Given the description of an element on the screen output the (x, y) to click on. 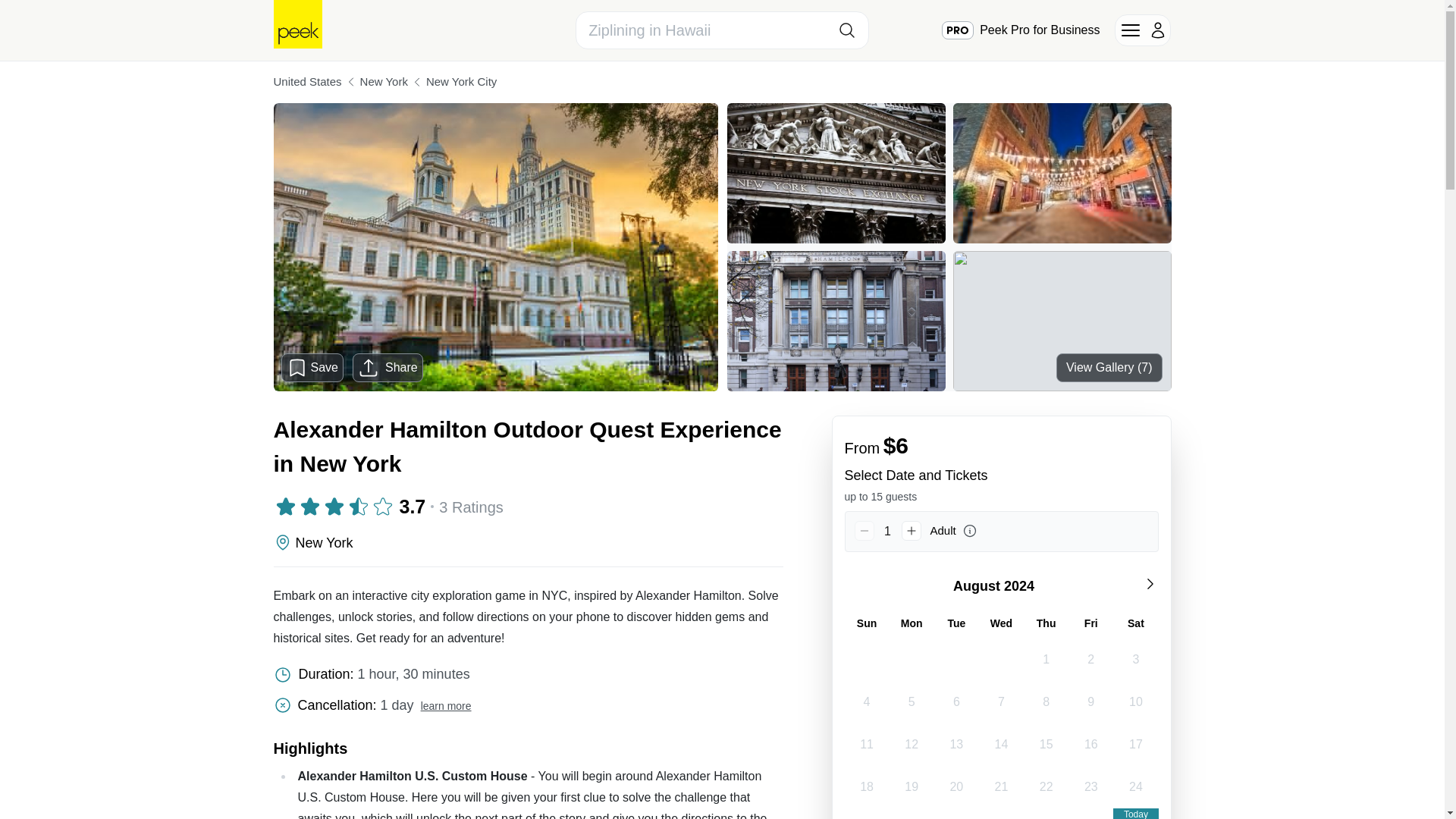
Save (311, 367)
Alexander Hamilton Outdoor Quest Experience in New York (528, 446)
New York City (461, 81)
New York (383, 81)
learn more (445, 705)
Share (387, 367)
Peek Pro for Business (1020, 29)
United States (306, 81)
